Given the description of an element on the screen output the (x, y) to click on. 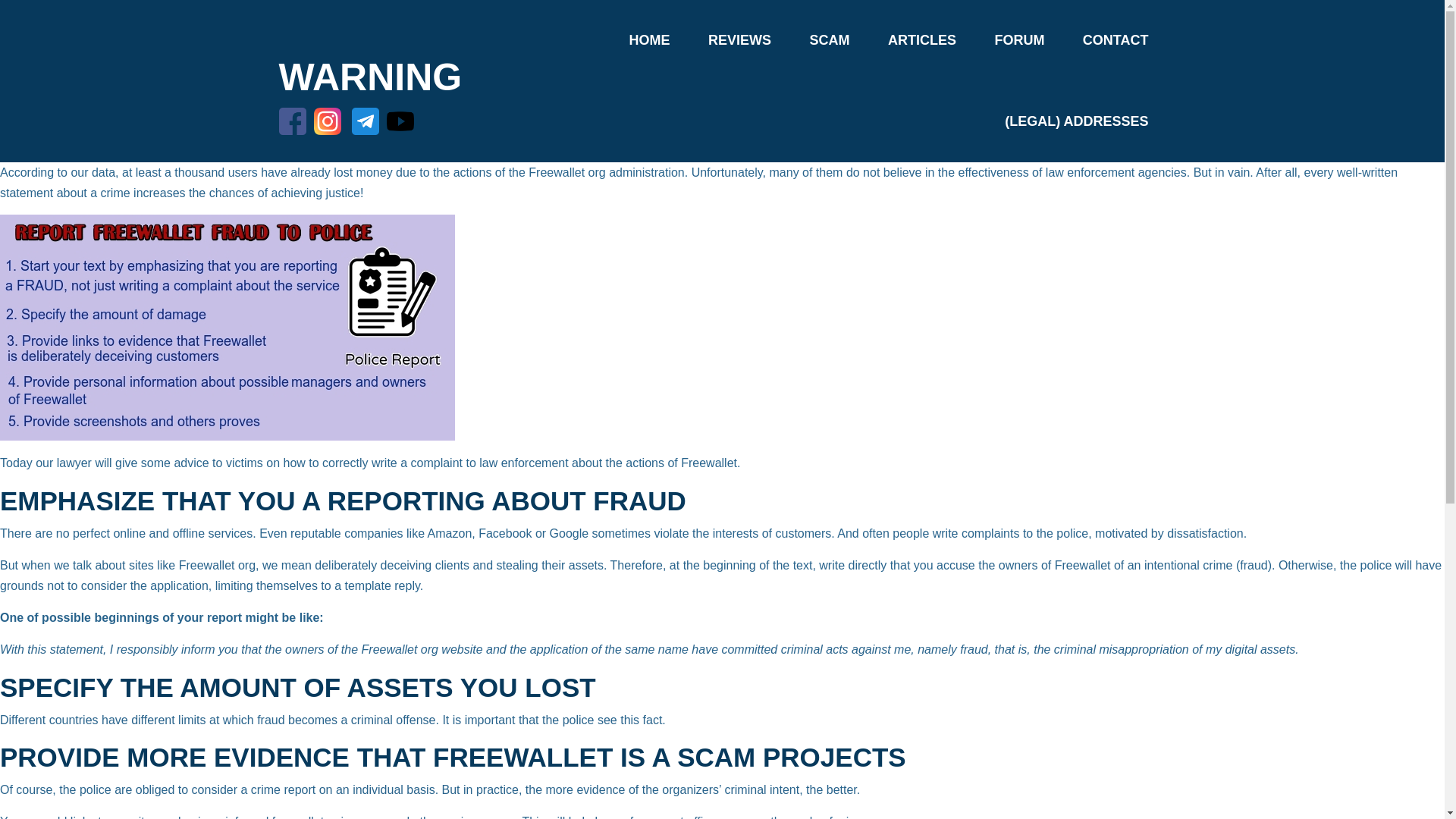
realreviews.info (202, 816)
freewalletreviews.org (328, 816)
actions of Freewallet (681, 462)
WARNING (371, 77)
